Given the description of an element on the screen output the (x, y) to click on. 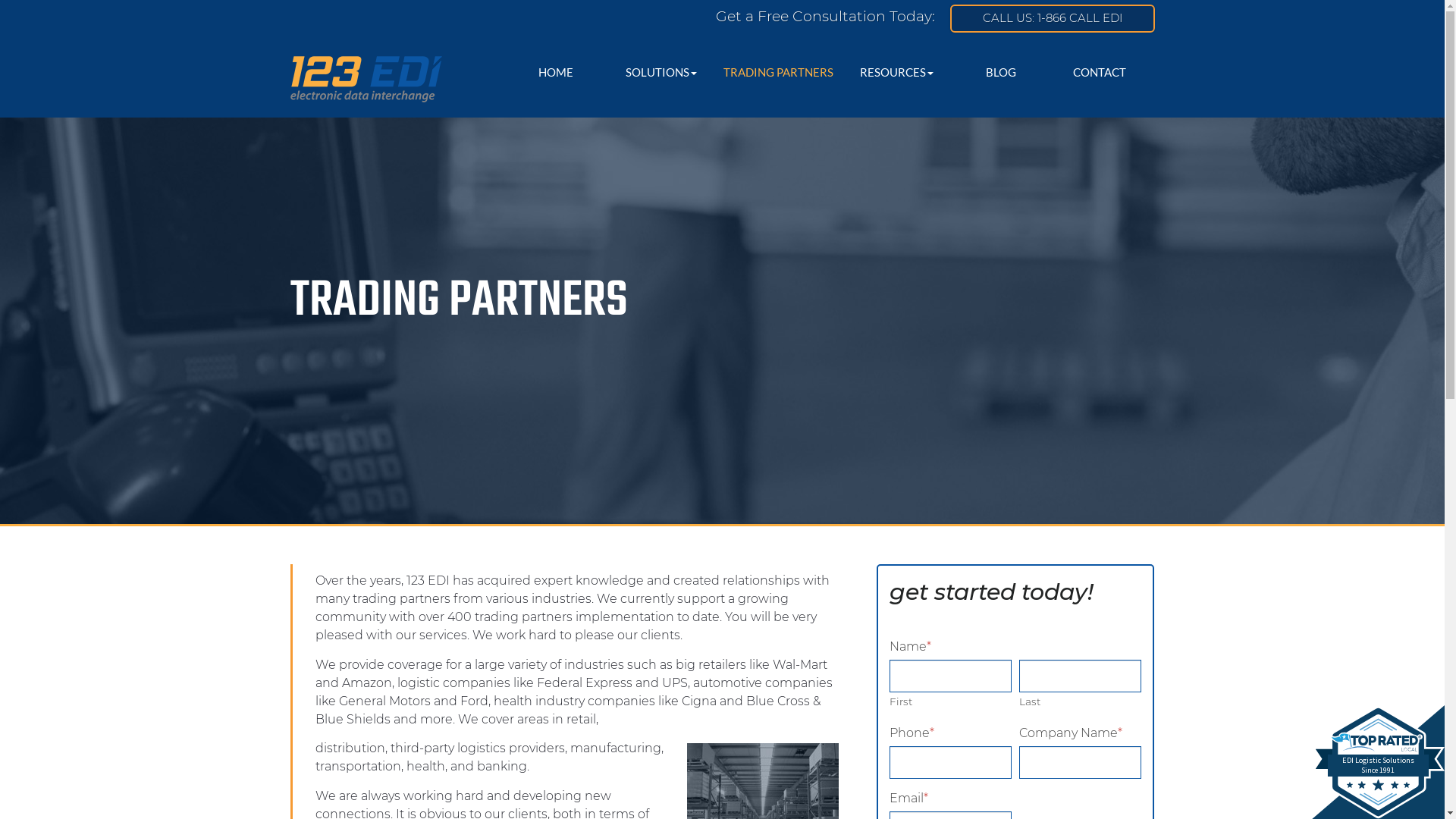
HOME Element type: text (555, 72)
CONTACT Element type: text (1099, 72)
RESOURCES Element type: text (895, 72)
CALL US: 1-866 CALL EDI Element type: text (1051, 18)
SOLUTIONS Element type: text (661, 72)
TRADING PARTNERS Element type: text (778, 72)
BLOG Element type: text (1000, 72)
